Given the description of an element on the screen output the (x, y) to click on. 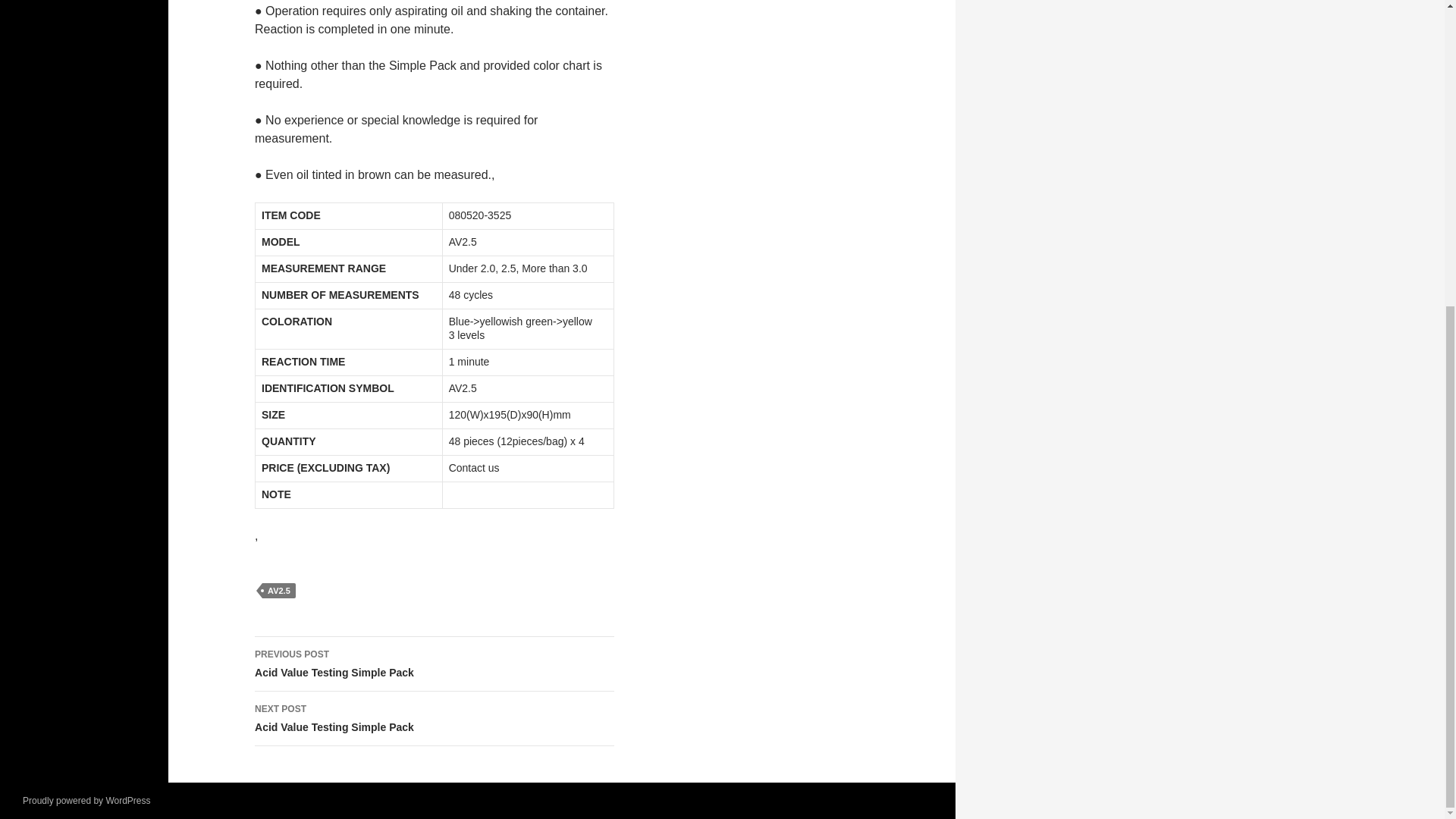
Proudly powered by WordPress (87, 800)
AV2.5 (434, 664)
